Given the description of an element on the screen output the (x, y) to click on. 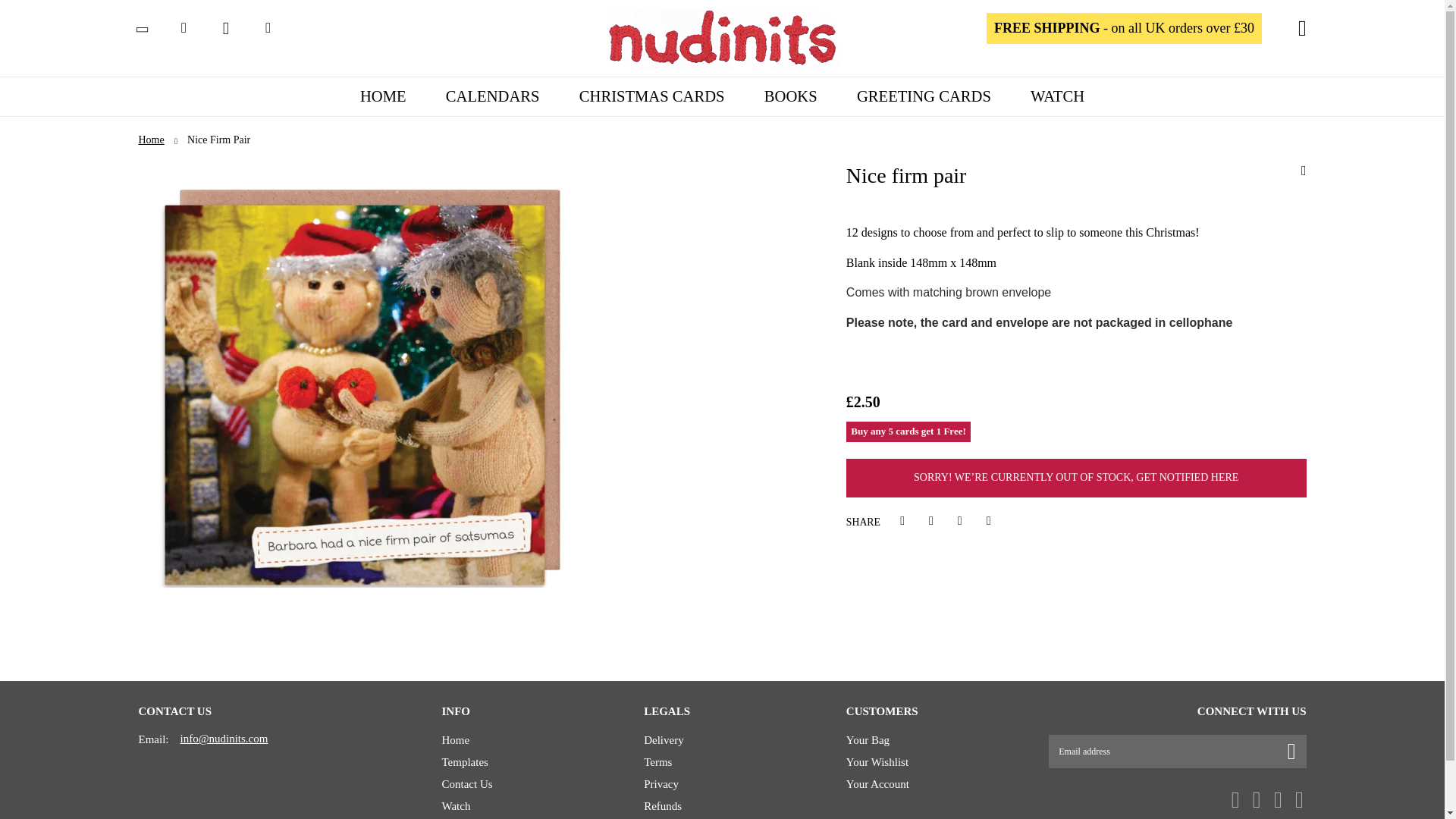
CHRISTMAS CARDS (651, 96)
menu (141, 28)
CALENDARS (492, 96)
shopping basket (1302, 28)
search (183, 27)
WATCH (1056, 96)
my wishlist (225, 28)
BOOKS (790, 96)
GREETING CARDS (923, 96)
open account menu (267, 27)
Skip to Main Content (16, 24)
HOME (383, 96)
